Given the description of an element on the screen output the (x, y) to click on. 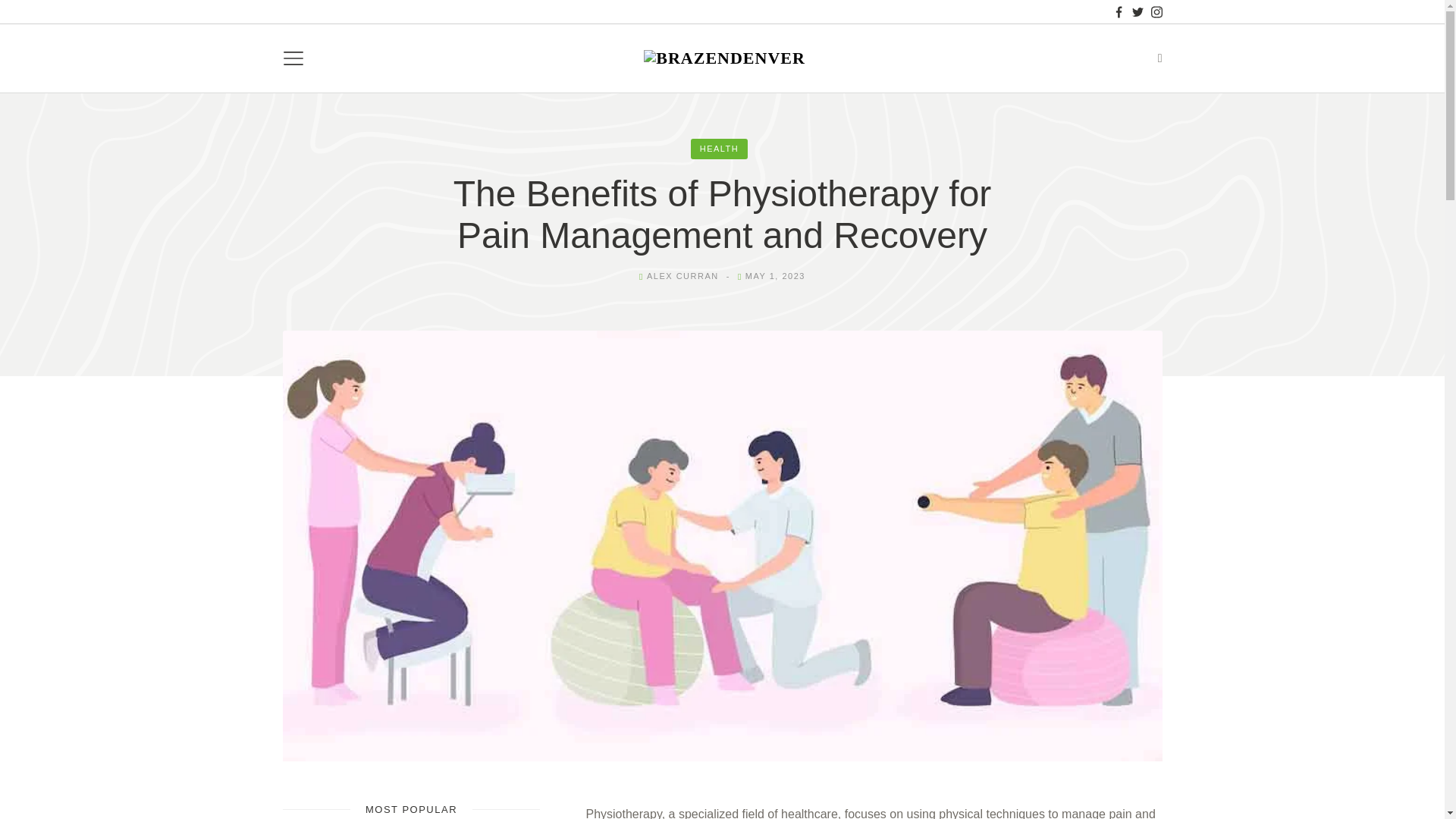
MAY 1, 2023 (775, 275)
ALEX CURRAN (682, 275)
HEALTH (719, 148)
